Given the description of an element on the screen output the (x, y) to click on. 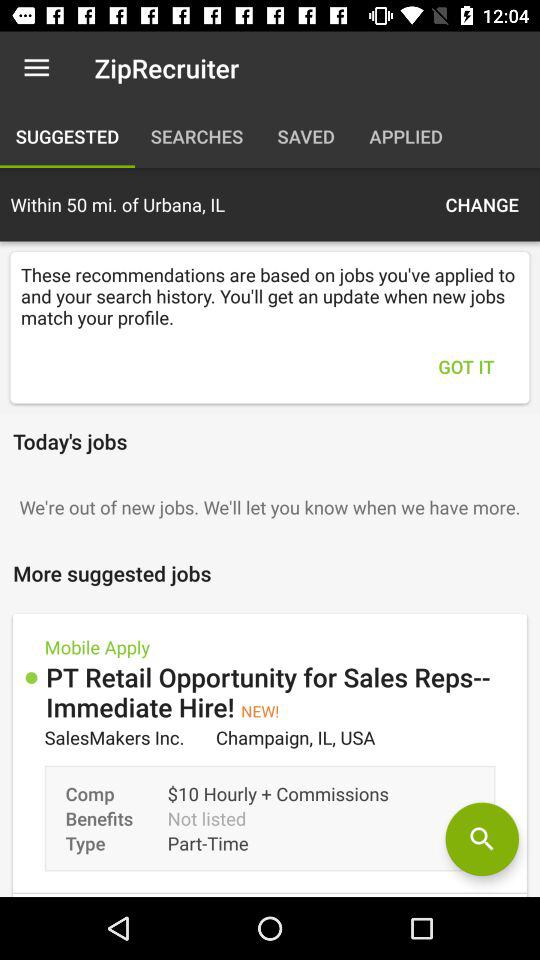
magnify (482, 839)
